Given the description of an element on the screen output the (x, y) to click on. 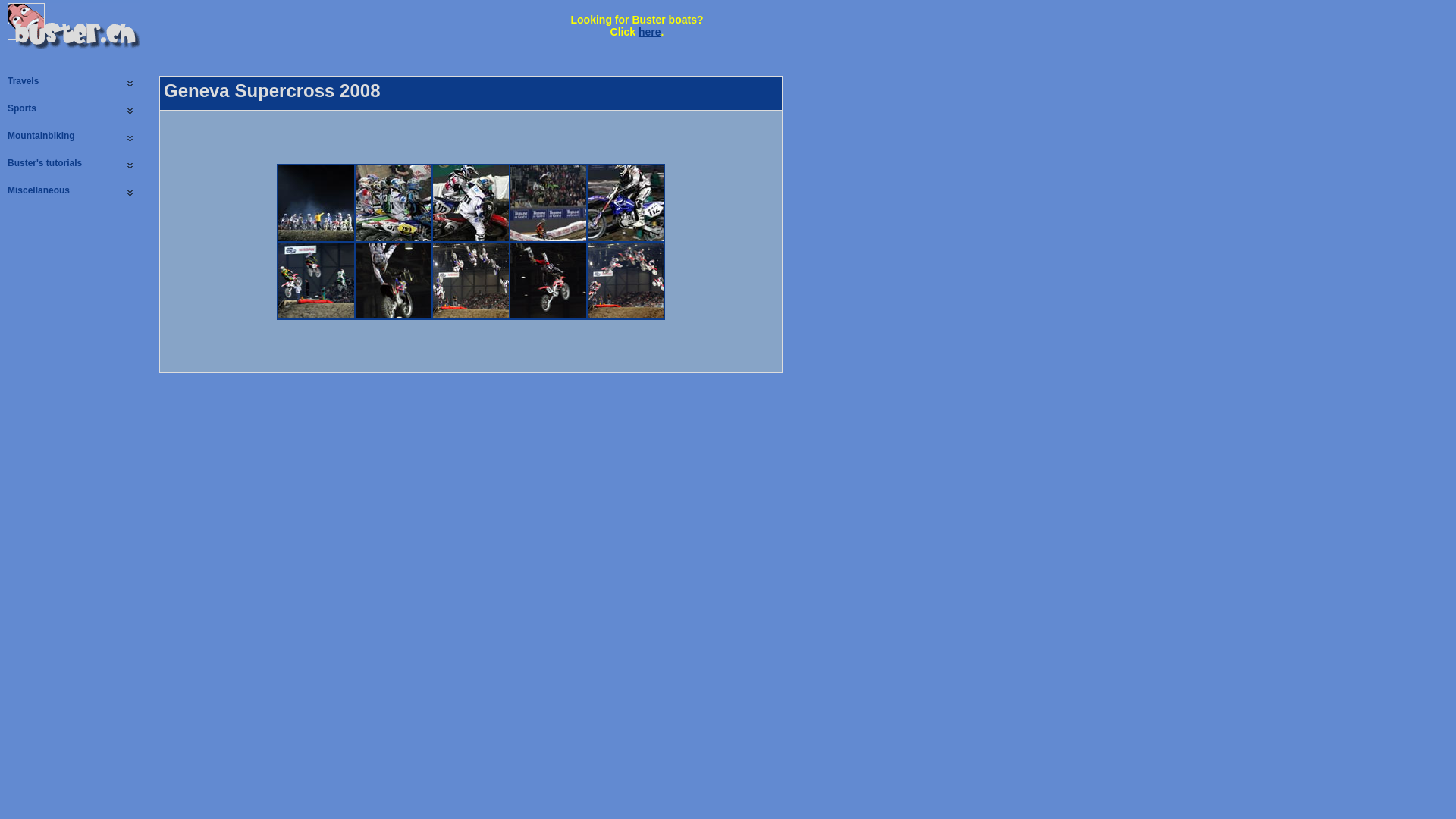
Back flip sequence Element type: hover (470, 315)
Seat grab Element type: hover (393, 315)
Introducing the riders Element type: hover (316, 237)
Finsih with a twist. Element type: hover (625, 315)
here Element type: text (649, 31)
Watch your head! Element type: hover (548, 237)
Superman Element type: hover (548, 315)
Jump action Element type: hover (625, 237)
Tight cornering Element type: hover (470, 237)
Advertisement Element type: hover (336, 24)
Always check your rear Element type: hover (316, 315)
Starting lineup Element type: hover (393, 237)
